Given the description of an element on the screen output the (x, y) to click on. 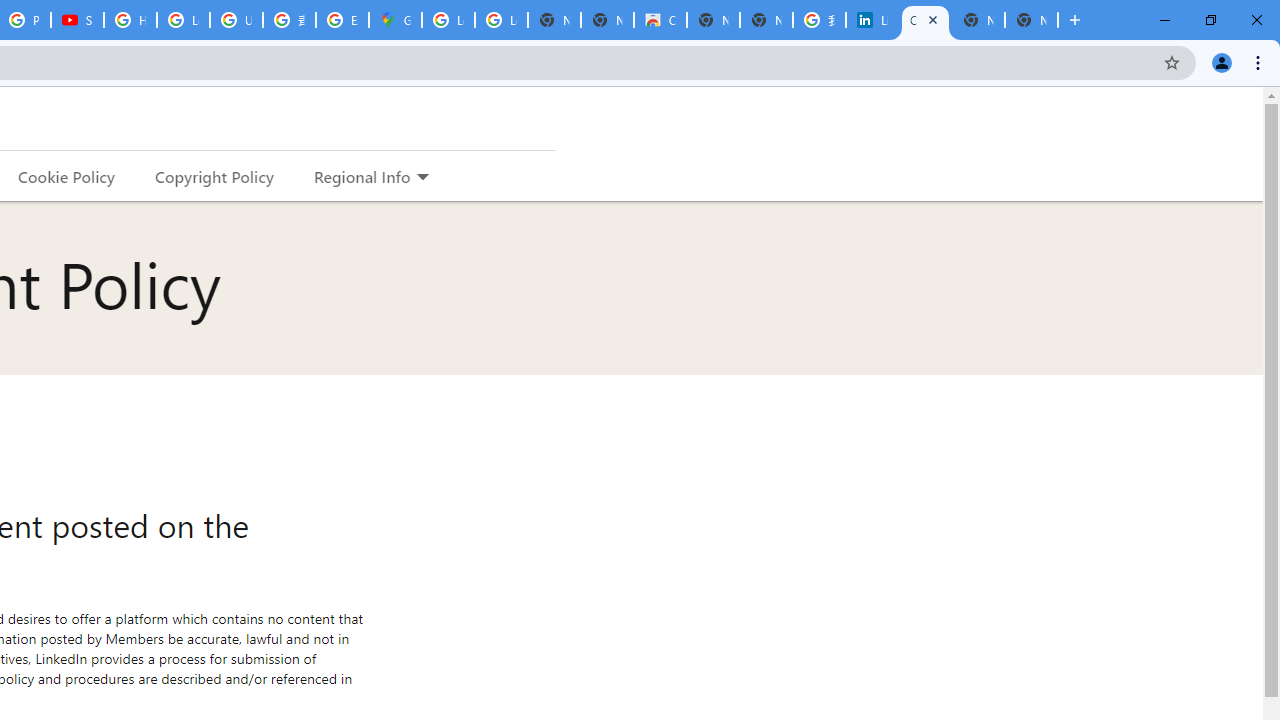
Chrome Web Store (660, 20)
How Chrome protects your passwords - Google Chrome Help (130, 20)
Regional Info (361, 176)
Subscriptions - YouTube (77, 20)
Explore new street-level details - Google Maps Help (342, 20)
